Given the description of an element on the screen output the (x, y) to click on. 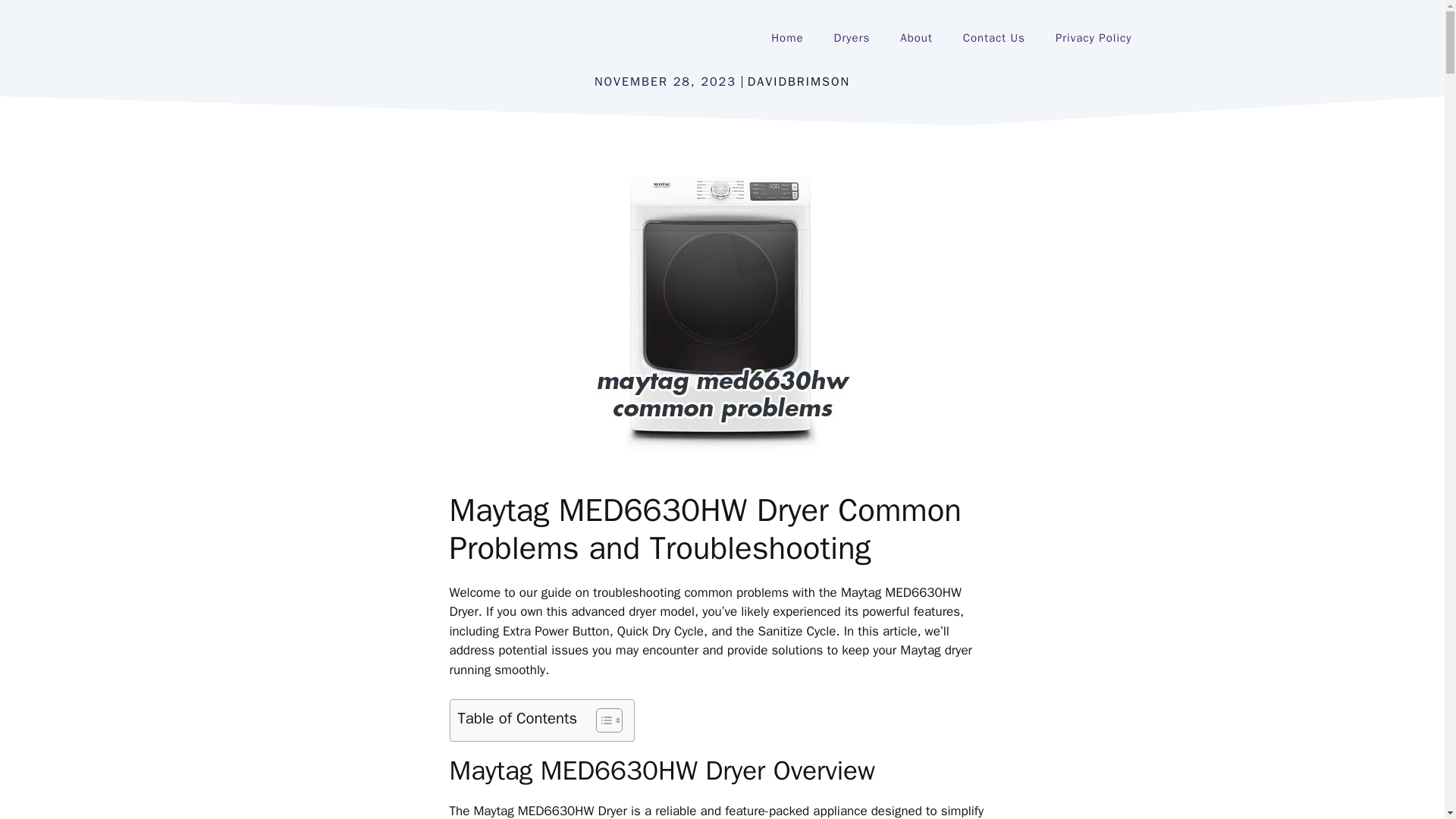
DAVIDBRIMSON (799, 81)
About (916, 37)
Home (786, 37)
Privacy Policy (1094, 37)
Contact Us (994, 37)
Dryers (851, 37)
